Given the description of an element on the screen output the (x, y) to click on. 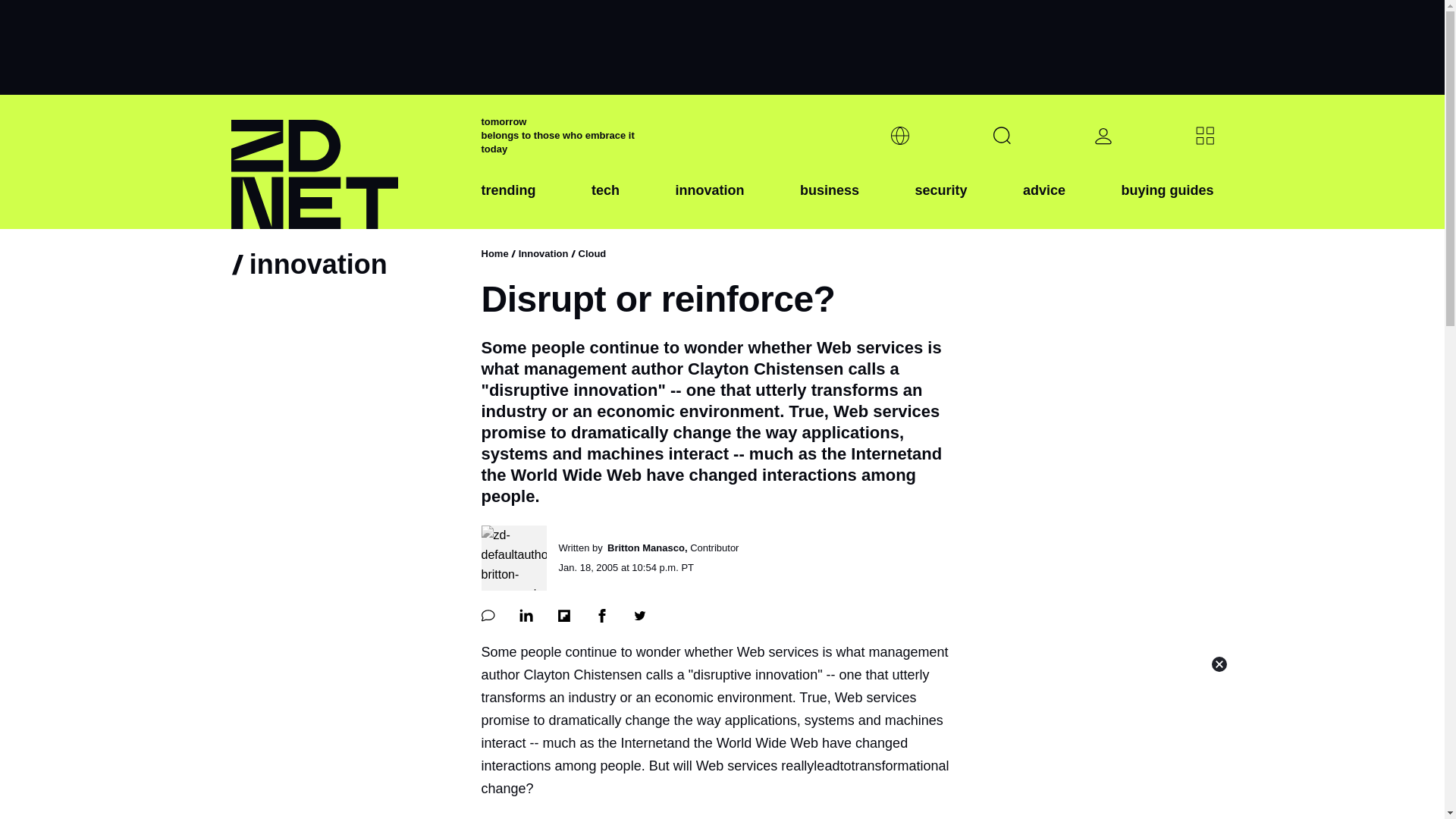
trending (507, 202)
ZDNET (346, 162)
